Given the description of an element on the screen output the (x, y) to click on. 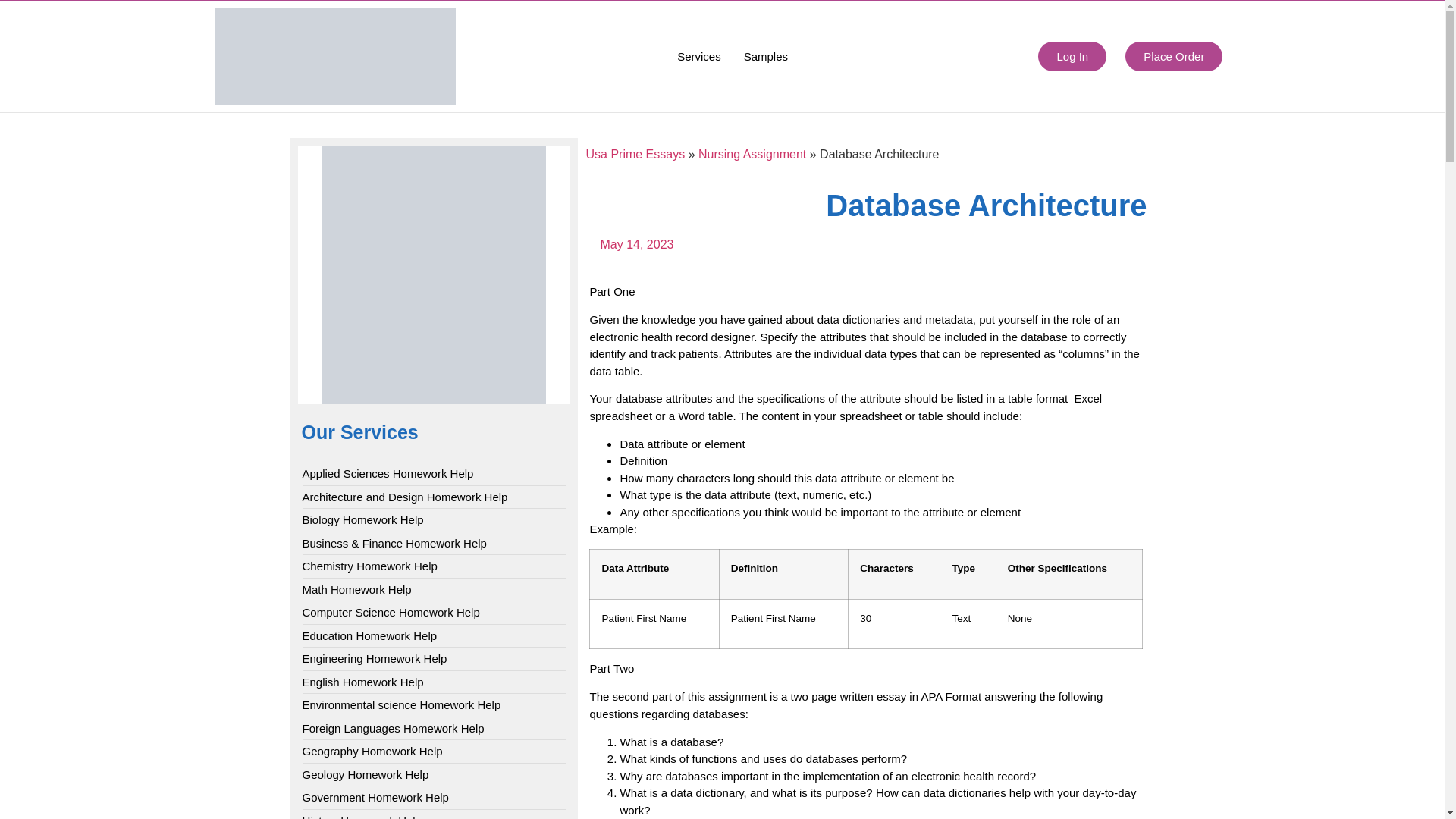
English Homework Help (362, 682)
Math Homework Help (355, 589)
Geography Homework Help (371, 751)
Geology Homework Help (364, 774)
Applied Sciences Homework Help (387, 474)
History Homework Help (361, 816)
Usa Prime Essays (634, 154)
Environmental science Homework Help (400, 705)
pic test 2 (334, 56)
Place Order (1174, 56)
